Given the description of an element on the screen output the (x, y) to click on. 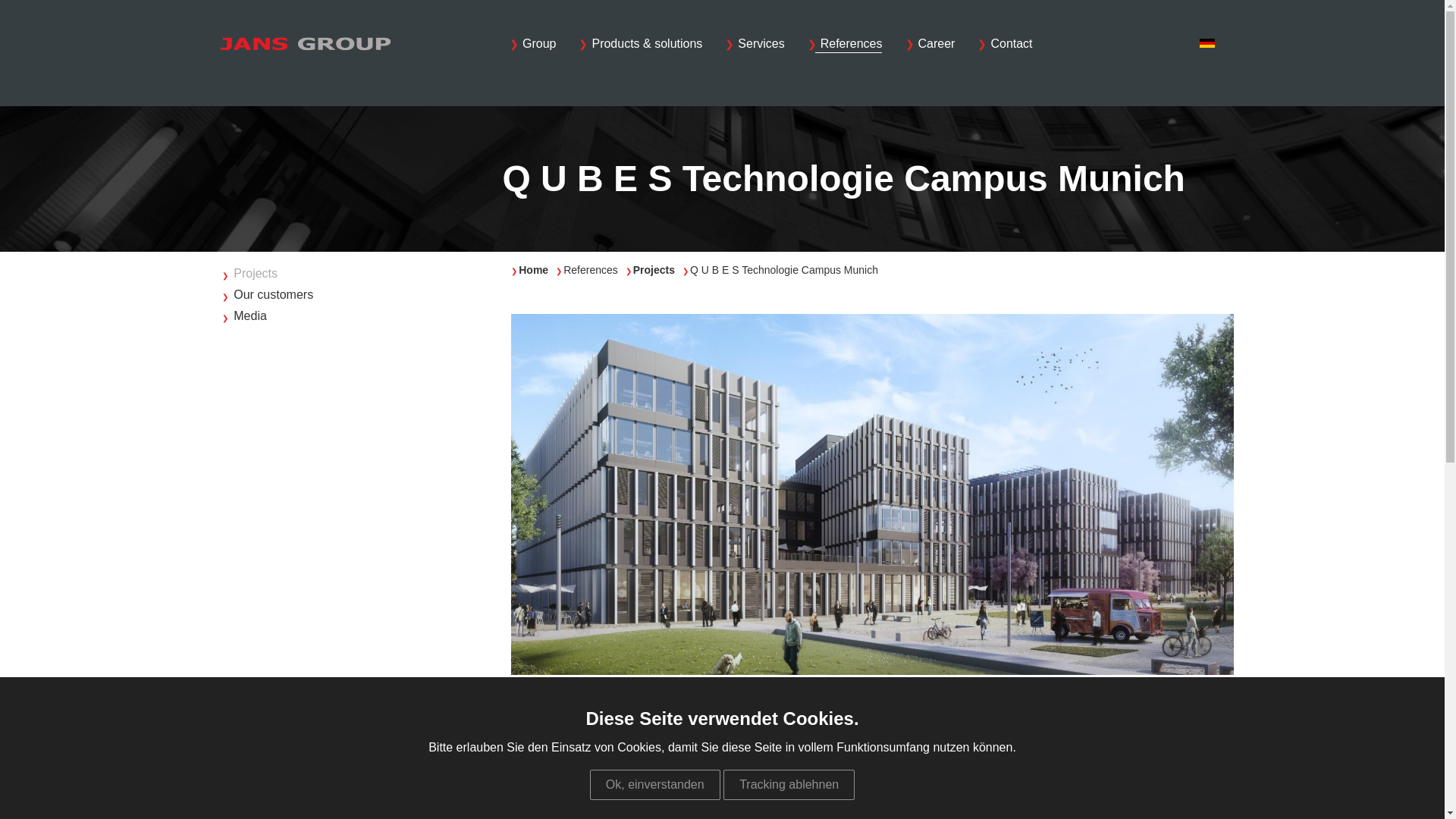
References (845, 44)
Contact (1004, 44)
Group (532, 44)
Services (754, 44)
Career (930, 44)
